Given the description of an element on the screen output the (x, y) to click on. 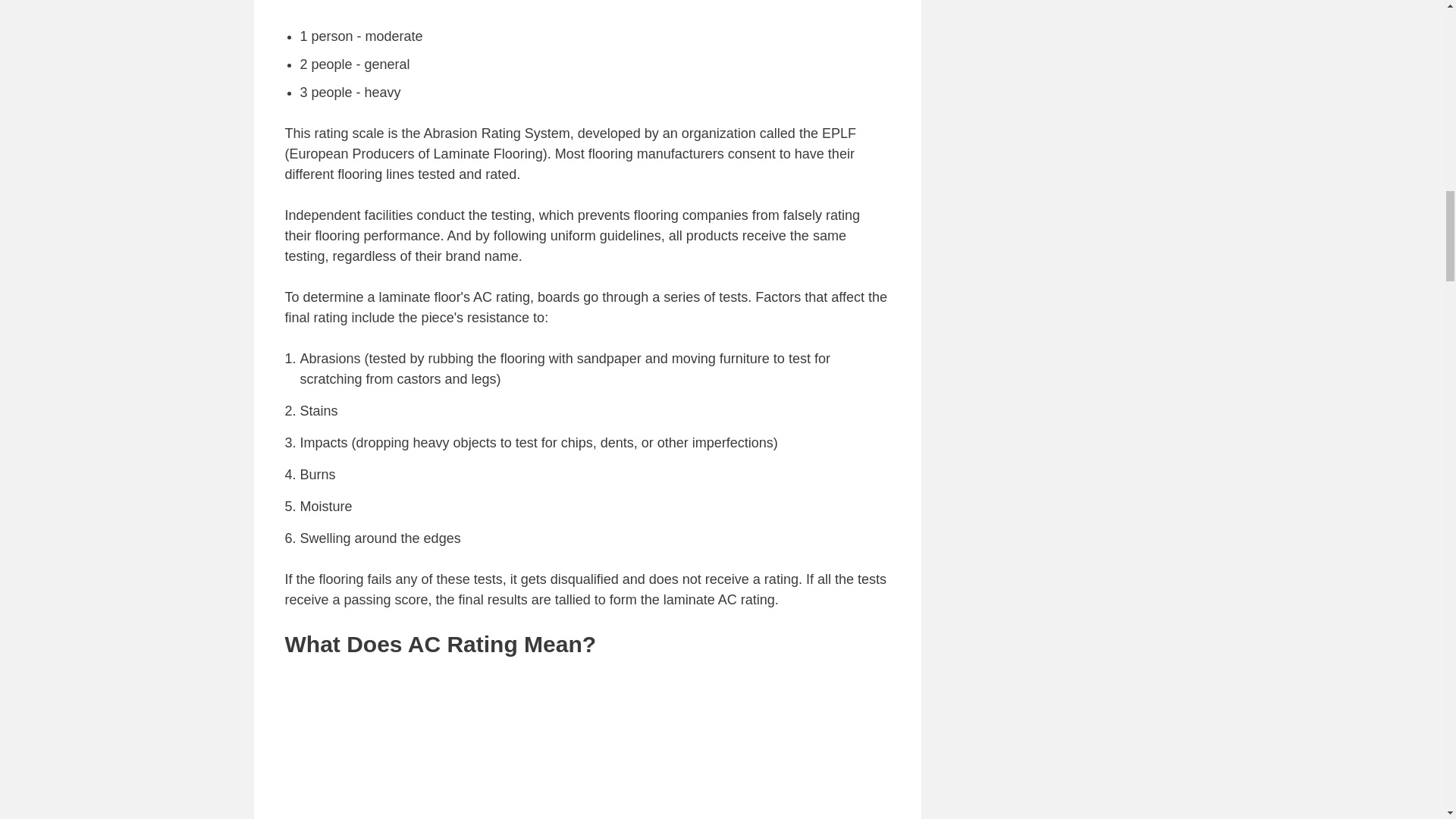
Laminate-AC-rating-explained (587, 746)
Laminate-AC-rating-class (586, 2)
